Given the description of an element on the screen output the (x, y) to click on. 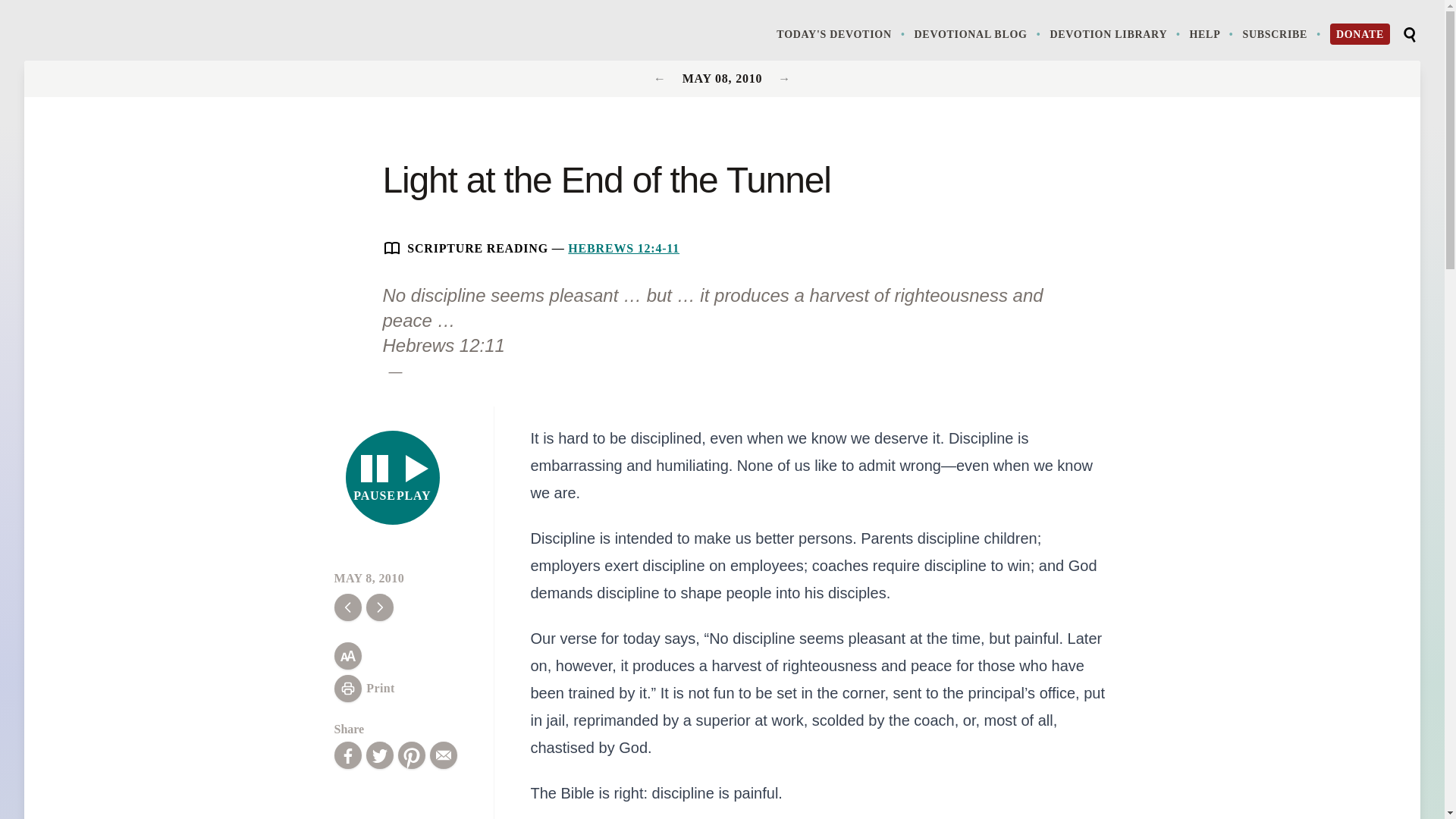
Print (363, 687)
DEVOTIONAL BLOG (978, 34)
Share on Twitter (379, 755)
Share by Email (443, 755)
Share on Pinterest (411, 755)
Share on Facebook (347, 755)
Share on Facebook (347, 755)
HEBREWS 12:4-11 (623, 247)
Share on Pinterest (411, 755)
Previous Devotion: May 07, 2010 (392, 477)
Search (661, 78)
DEVOTION LIBRARY (1409, 34)
Share by Email (1115, 34)
Previous Devotion: May 08, 2010 (443, 755)
